Given the description of an element on the screen output the (x, y) to click on. 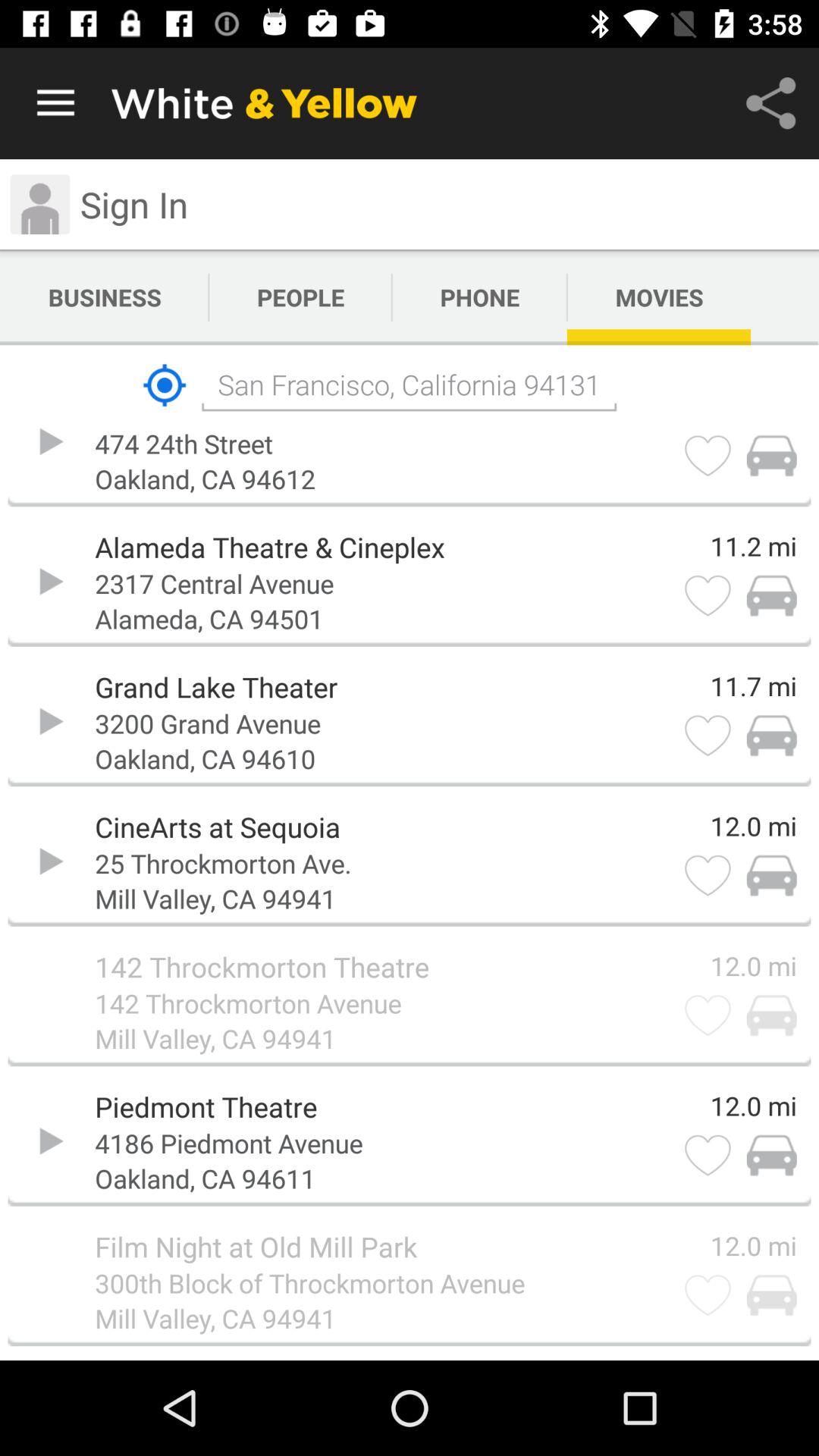
tap the icon above the new parkway icon (164, 385)
